Given the description of an element on the screen output the (x, y) to click on. 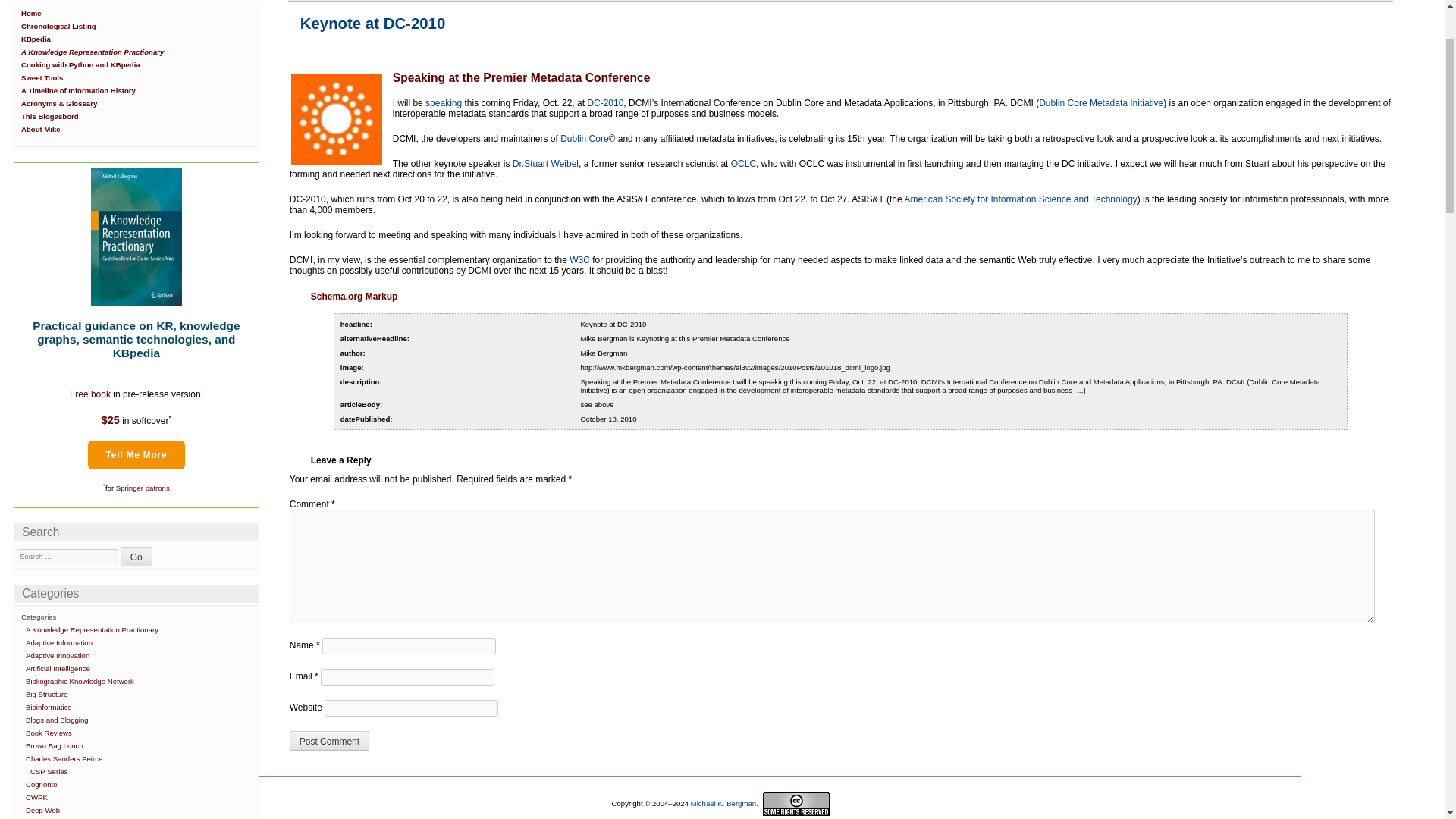
Go (136, 556)
Post Comment (329, 741)
About Mike (41, 129)
DC-2010 (604, 102)
Dr.Stuart Weibel (545, 163)
Search for: (66, 555)
Blog Home (31, 13)
A Knowledge Representation Practionary (135, 236)
Dublin Core Metadata Initiative (1101, 102)
Tell Me More (136, 454)
Chronological Listing (58, 26)
A Knowledge Representation Practionary (92, 629)
A Timeline of Information History (78, 90)
KBpedia (35, 39)
Go (136, 556)
